Given the description of an element on the screen output the (x, y) to click on. 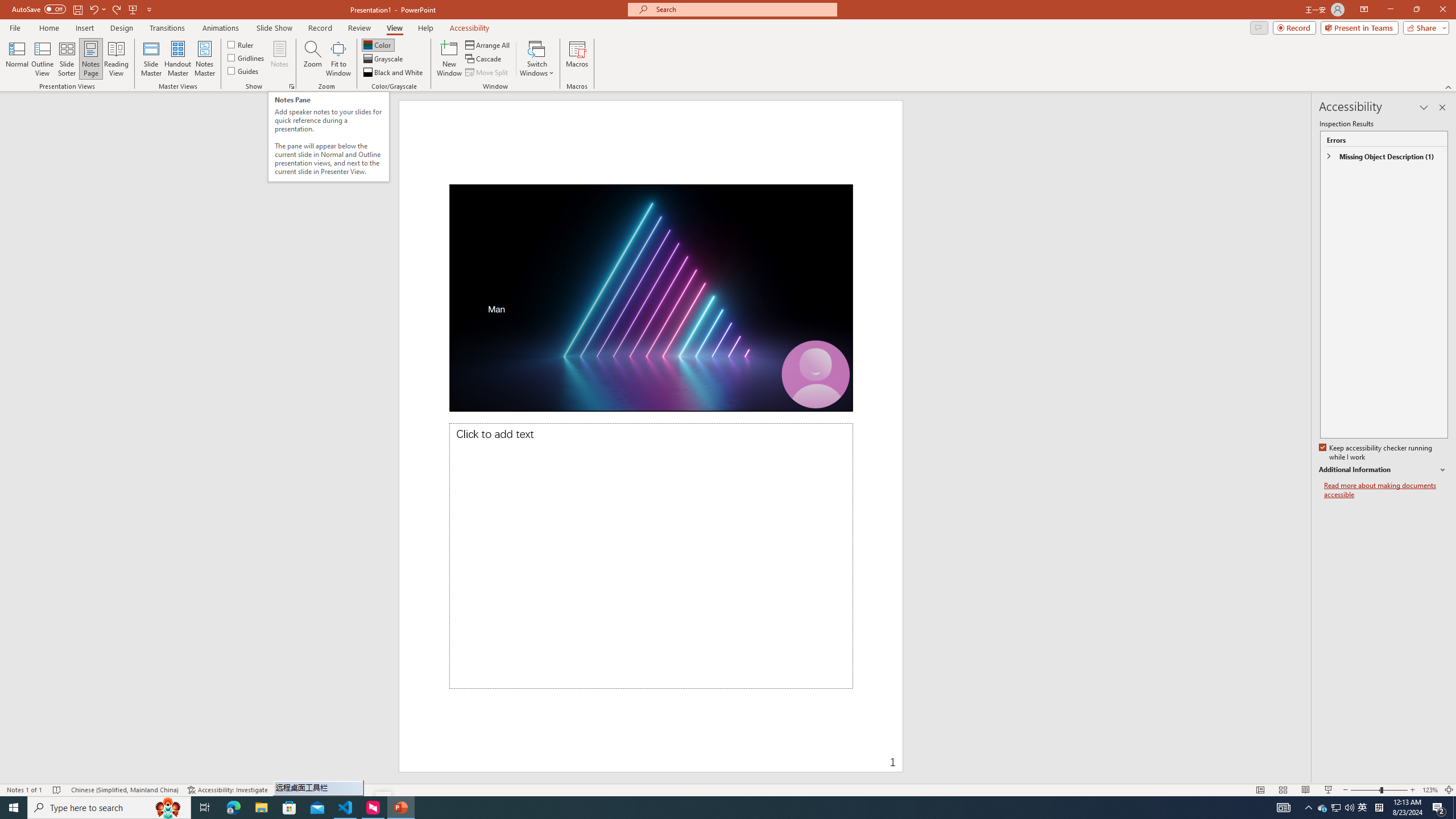
Notes Master (204, 58)
Notes Page (90, 58)
Switch Windows (537, 58)
